Given the description of an element on the screen output the (x, y) to click on. 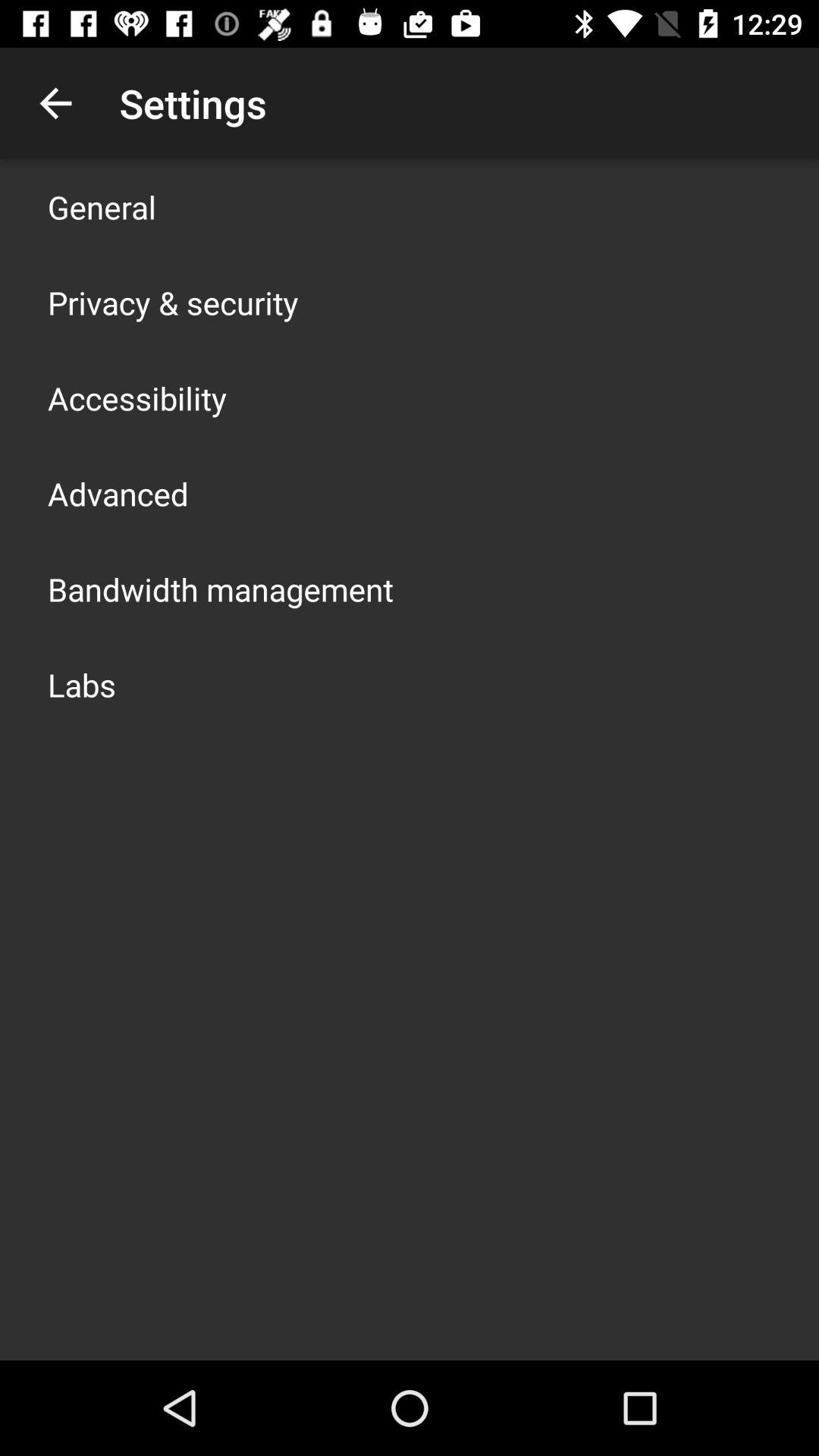
open app below advanced app (220, 588)
